Given the description of an element on the screen output the (x, y) to click on. 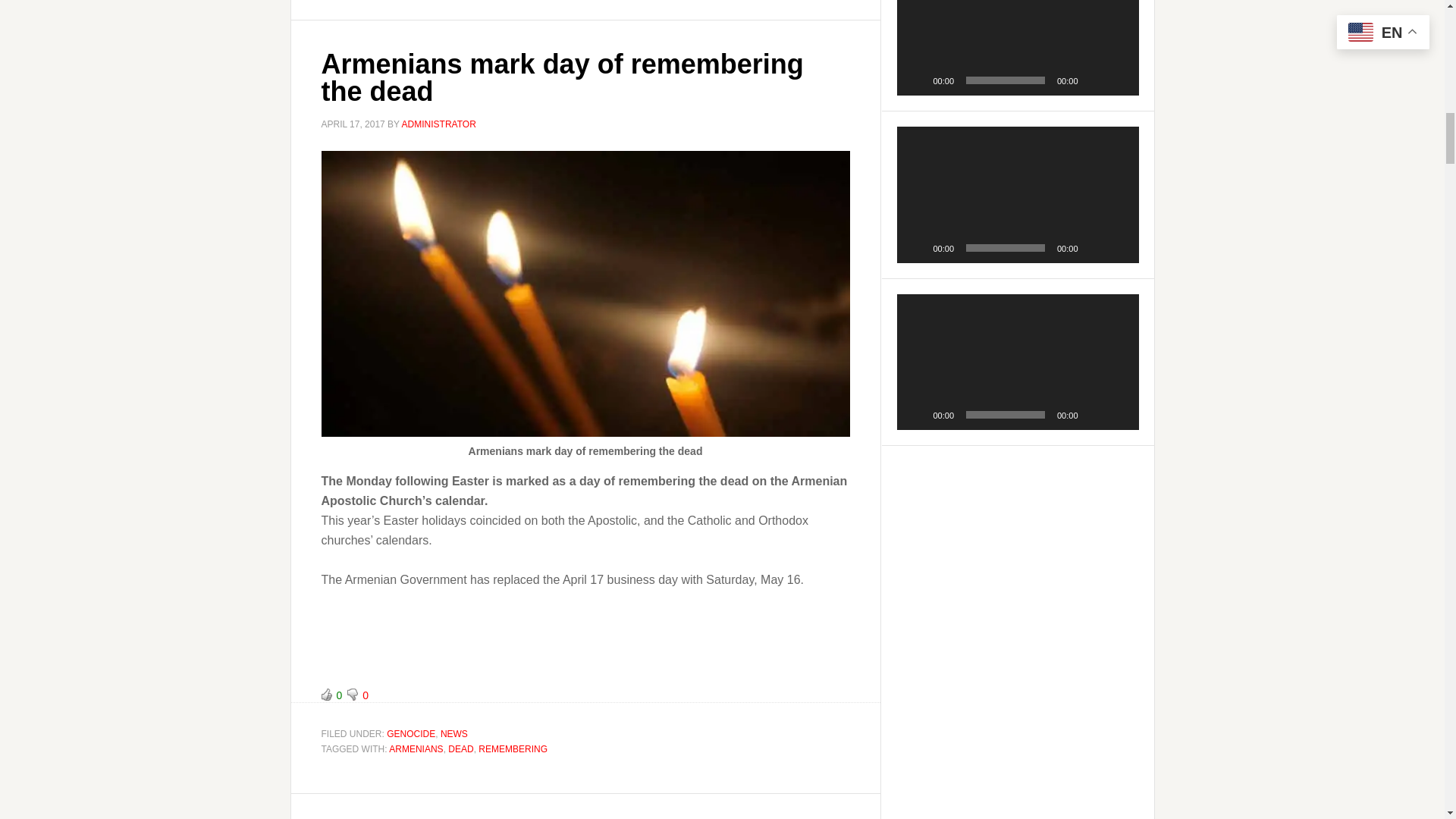
Armenians mark day of remembering the dead (562, 77)
DEAD (460, 748)
REMEMBERING (513, 748)
NEWS (454, 733)
ADMINISTRATOR (438, 123)
ARMENIANS (415, 748)
GENOCIDE (411, 733)
